Given the description of an element on the screen output the (x, y) to click on. 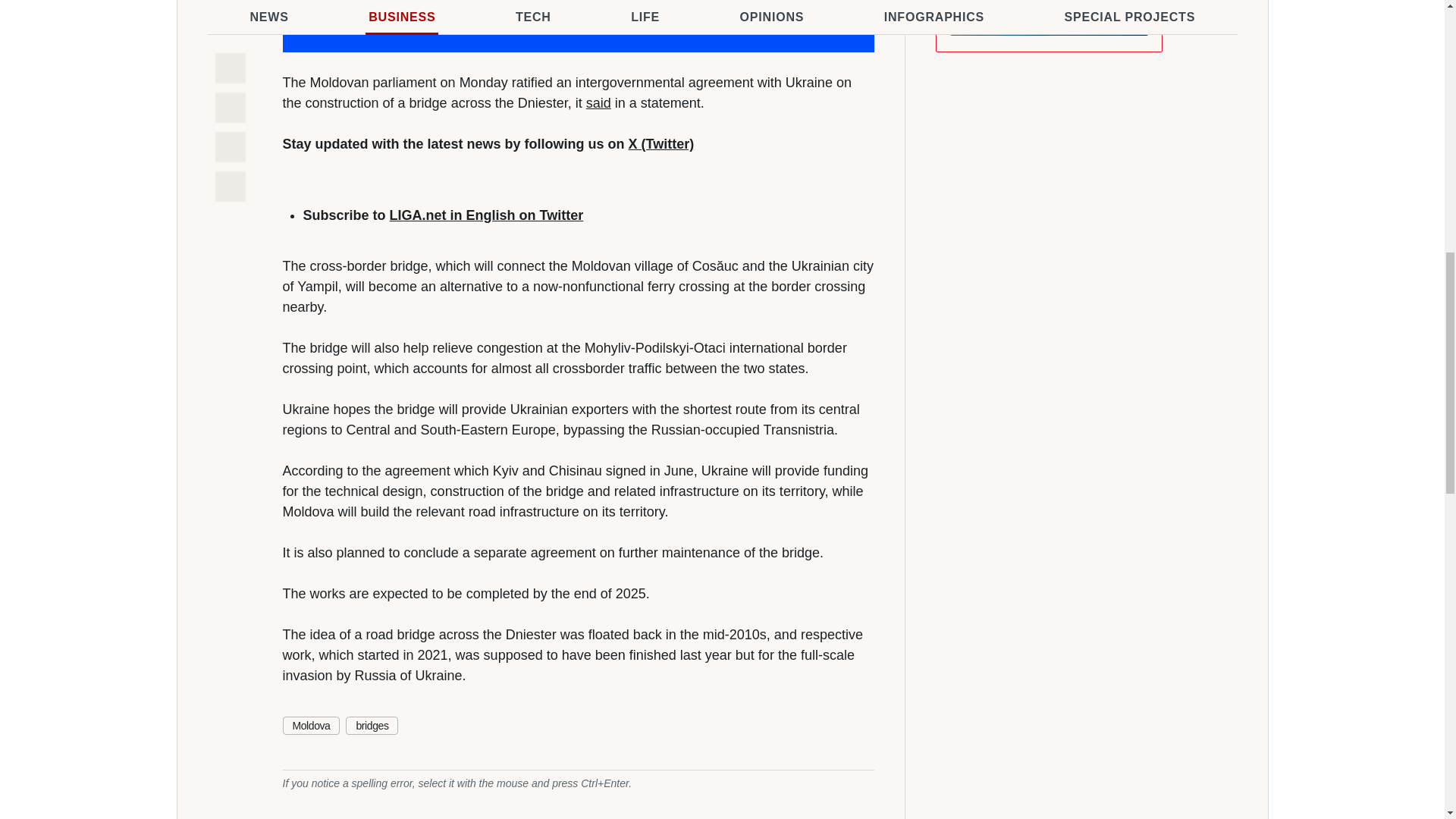
said (598, 102)
Fuel Ukrainian journalists with a cup of coffee (577, 26)
Moldova (310, 725)
bridges (371, 725)
LIGA.net in English on Twitter (486, 215)
